Given the description of an element on the screen output the (x, y) to click on. 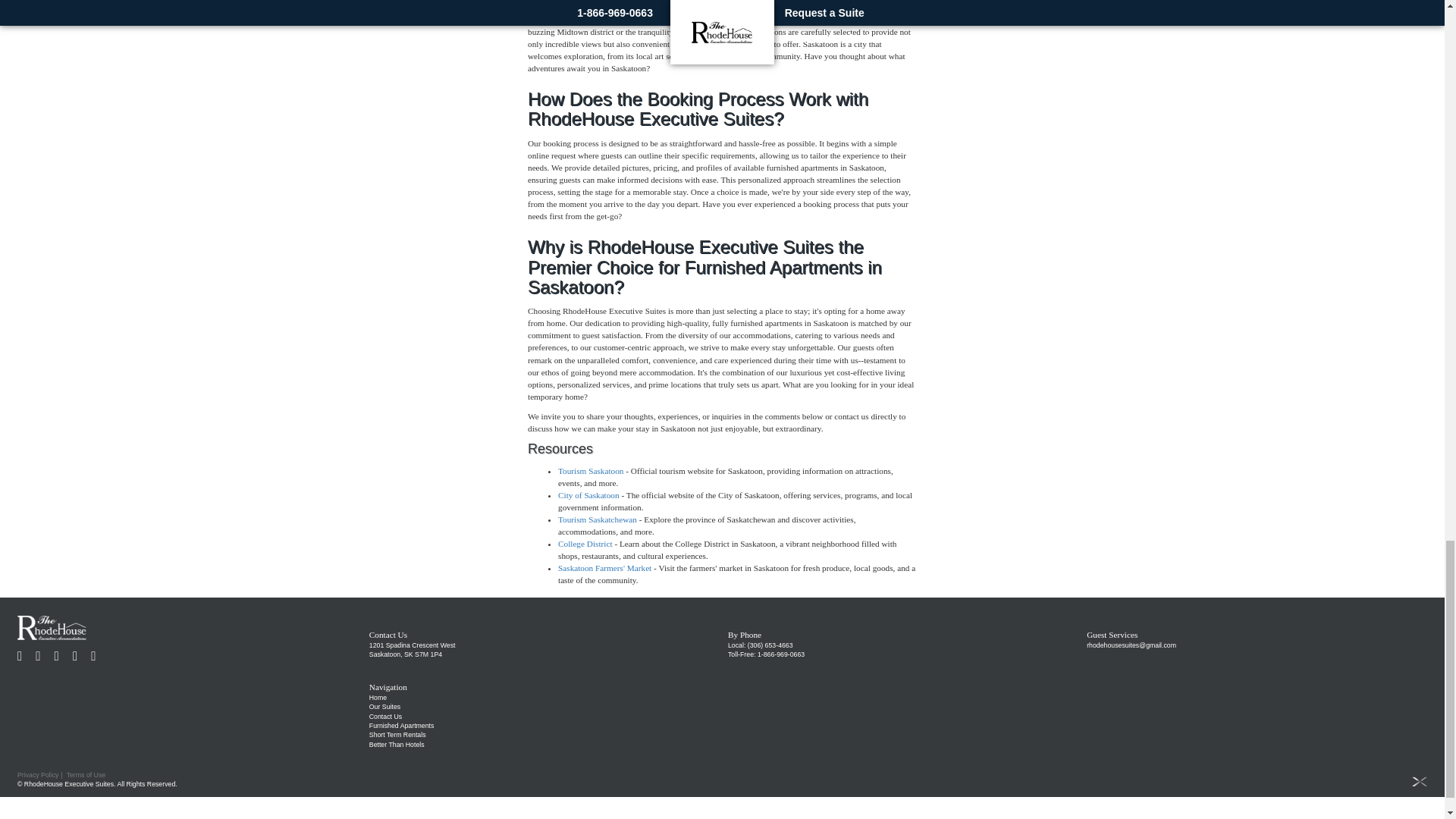
Home (378, 697)
RhodeHouse Executive Suites (52, 626)
City of Saskatoon (588, 494)
College District (584, 542)
Contact Us (385, 716)
Saskatoon Farmers' Market (603, 567)
Furnished Apartments (401, 725)
Tourism Saskatoon (590, 470)
Tourism Saskatchewan (597, 519)
Our Suites (384, 706)
